Given the description of an element on the screen output the (x, y) to click on. 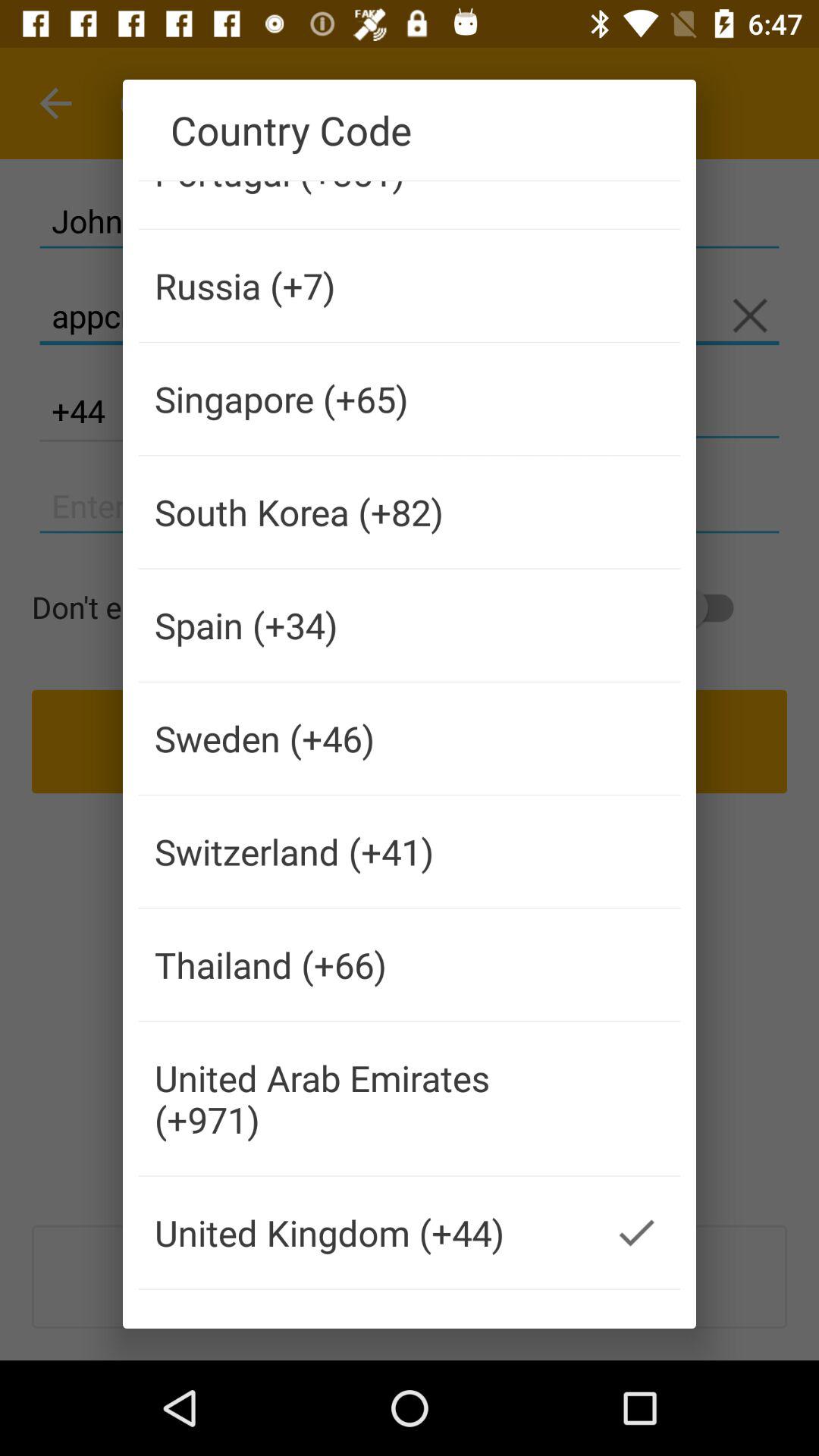
turn off icon below the russia (+7) icon (365, 398)
